Given the description of an element on the screen output the (x, y) to click on. 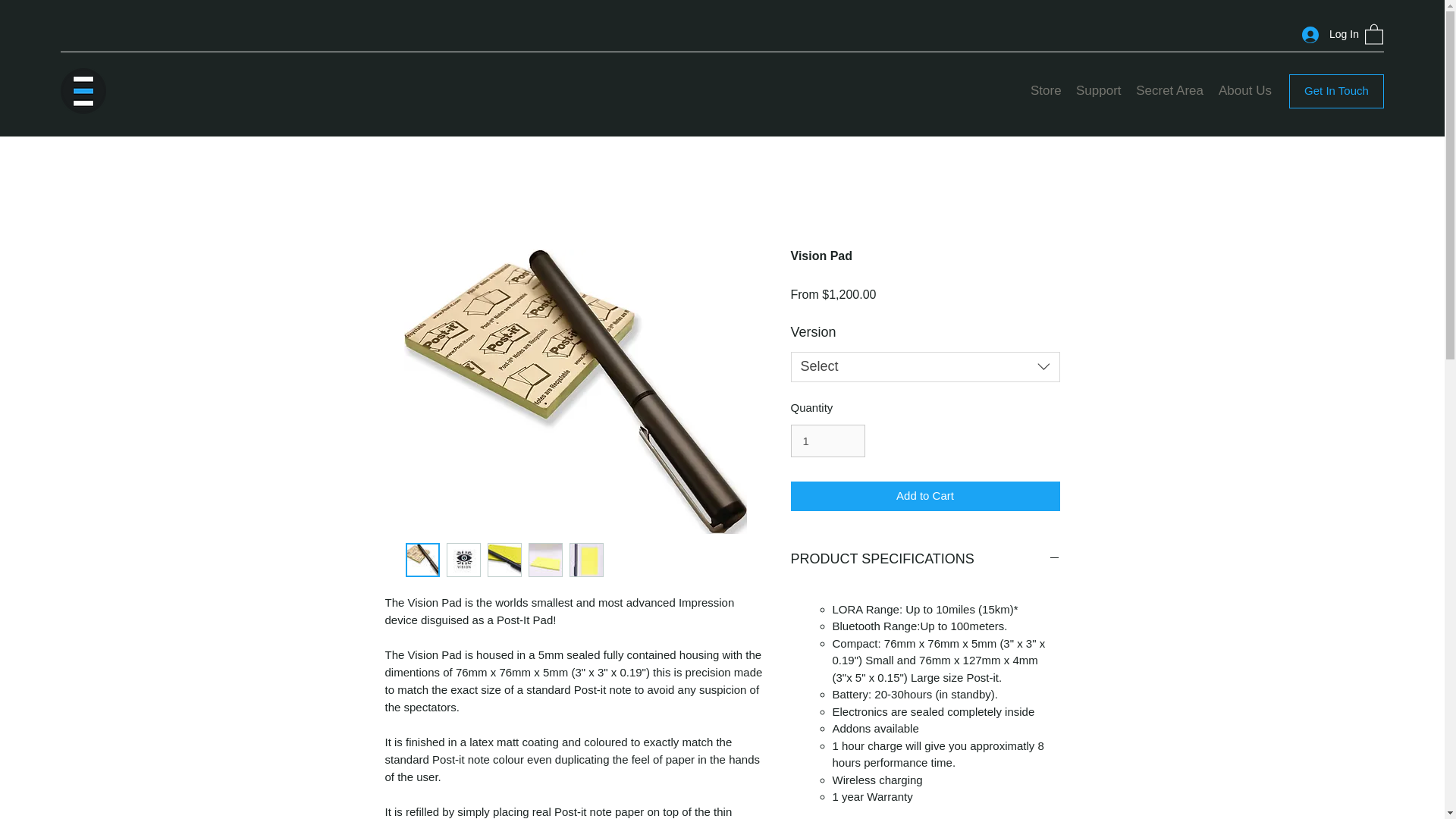
Store (1045, 90)
1 (827, 441)
Select (924, 367)
Log In (1325, 34)
PRODUCT SPECIFICATIONS (924, 559)
Support (1098, 90)
Get In Touch (1336, 91)
About Us (1244, 90)
Secret Area (1169, 90)
Add to Cart (924, 496)
